Given the description of an element on the screen output the (x, y) to click on. 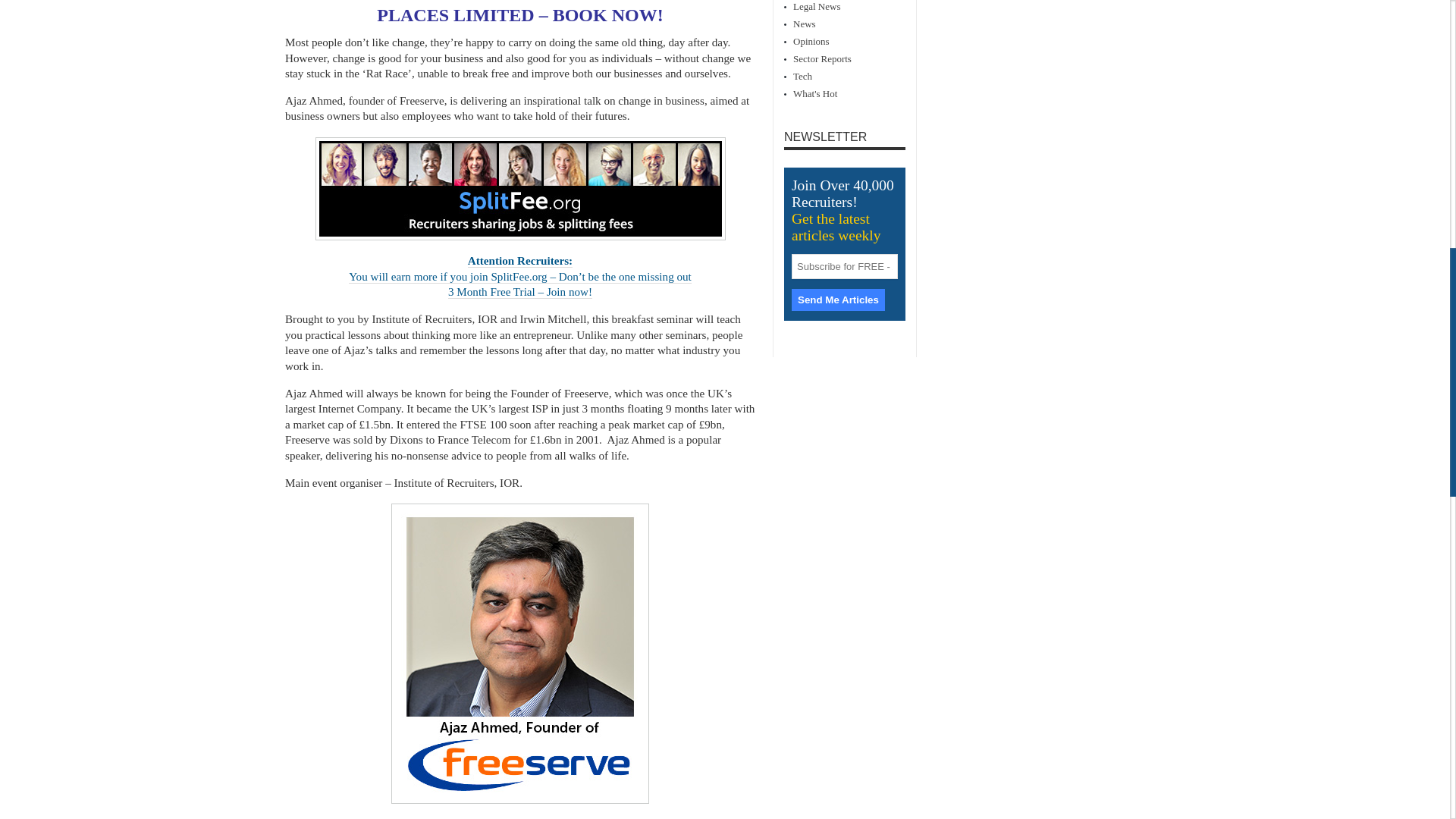
Send Me Articles (838, 300)
